Given the description of an element on the screen output the (x, y) to click on. 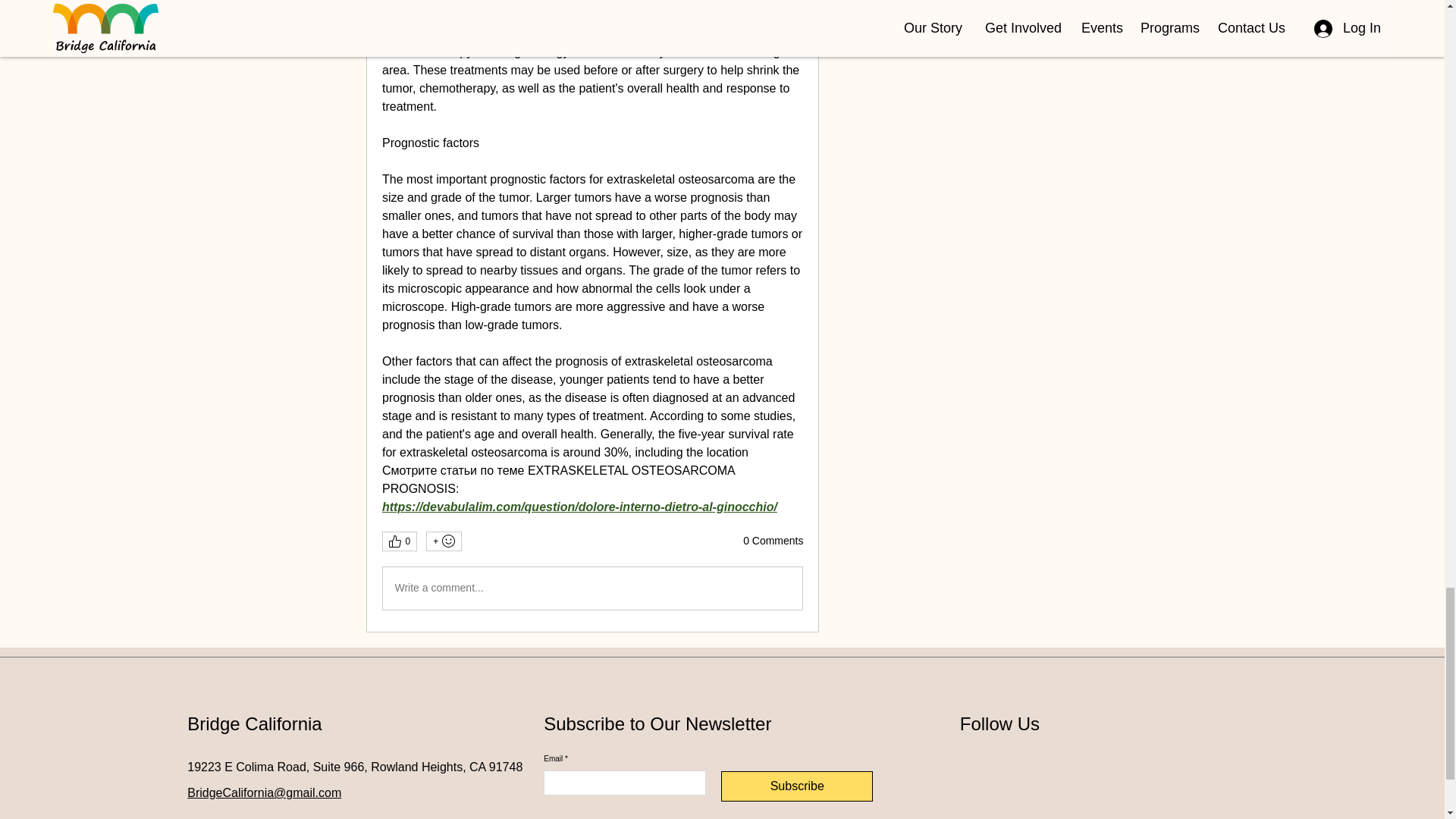
Subscribe (796, 786)
Write a comment... (591, 588)
Bridge California (254, 723)
0 Comments (772, 540)
